Given the description of an element on the screen output the (x, y) to click on. 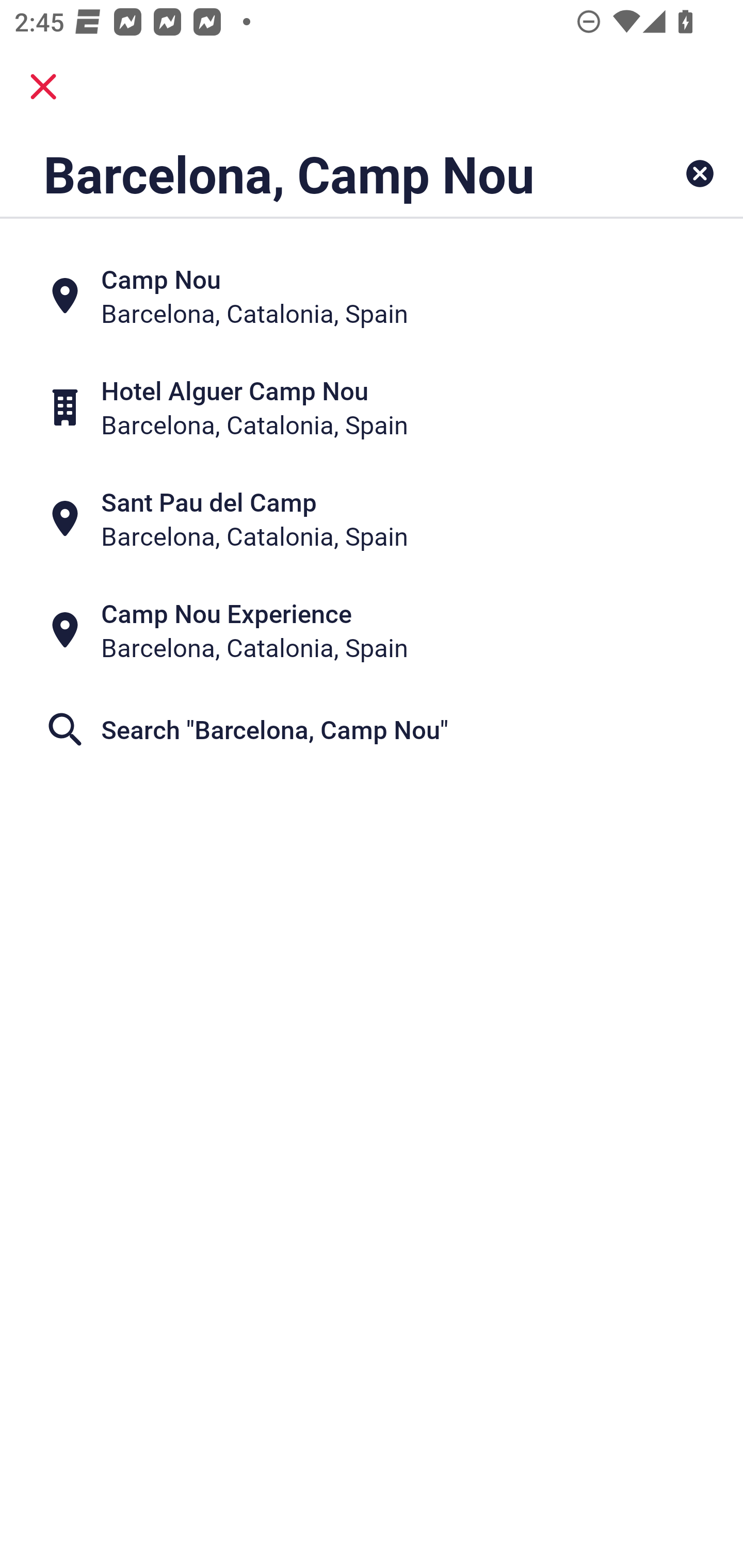
close. (43, 86)
Clear (699, 173)
Barcelona, Camp Nou (306, 173)
Camp Nou Barcelona, Catalonia, Spain (371, 295)
Hotel Alguer Camp Nou Barcelona, Catalonia, Spain (371, 406)
Sant Pau del Camp Barcelona, Catalonia, Spain (371, 517)
Camp Nou Experience Barcelona, Catalonia, Spain (371, 629)
Search "Barcelona, Camp Nou" (371, 729)
